Given the description of an element on the screen output the (x, y) to click on. 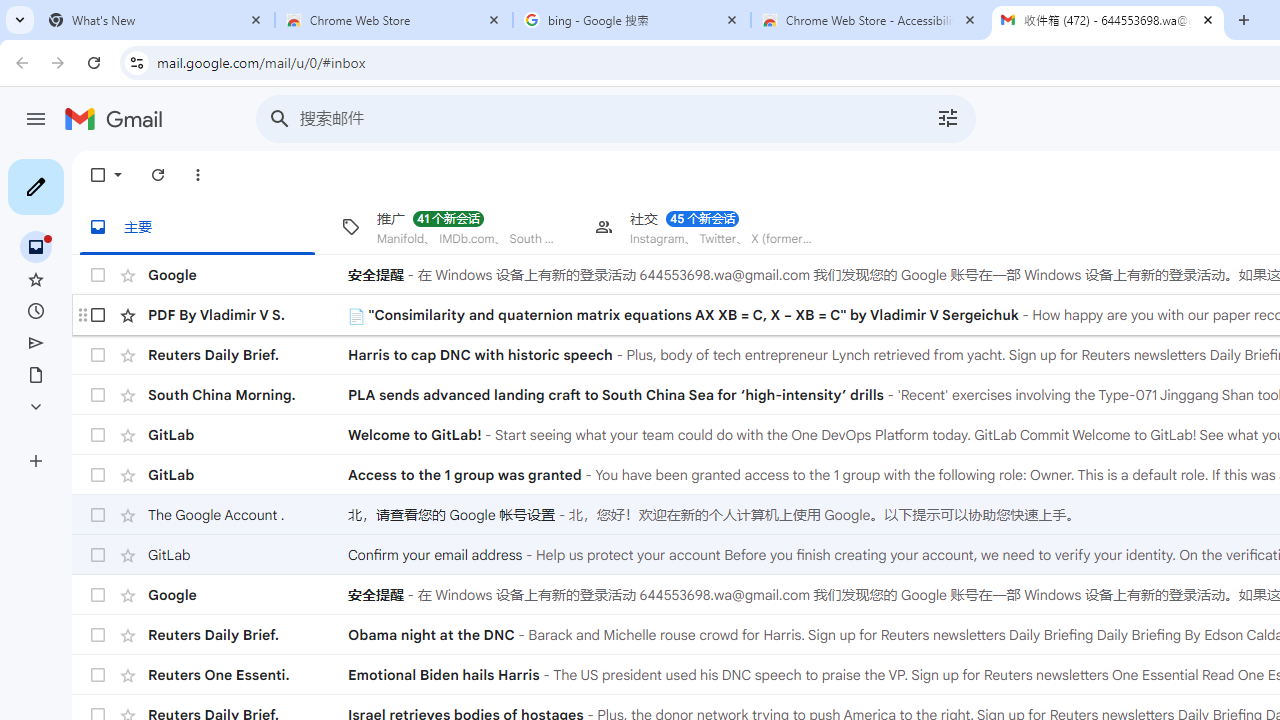
The Google Account . (248, 514)
